Given the description of an element on the screen output the (x, y) to click on. 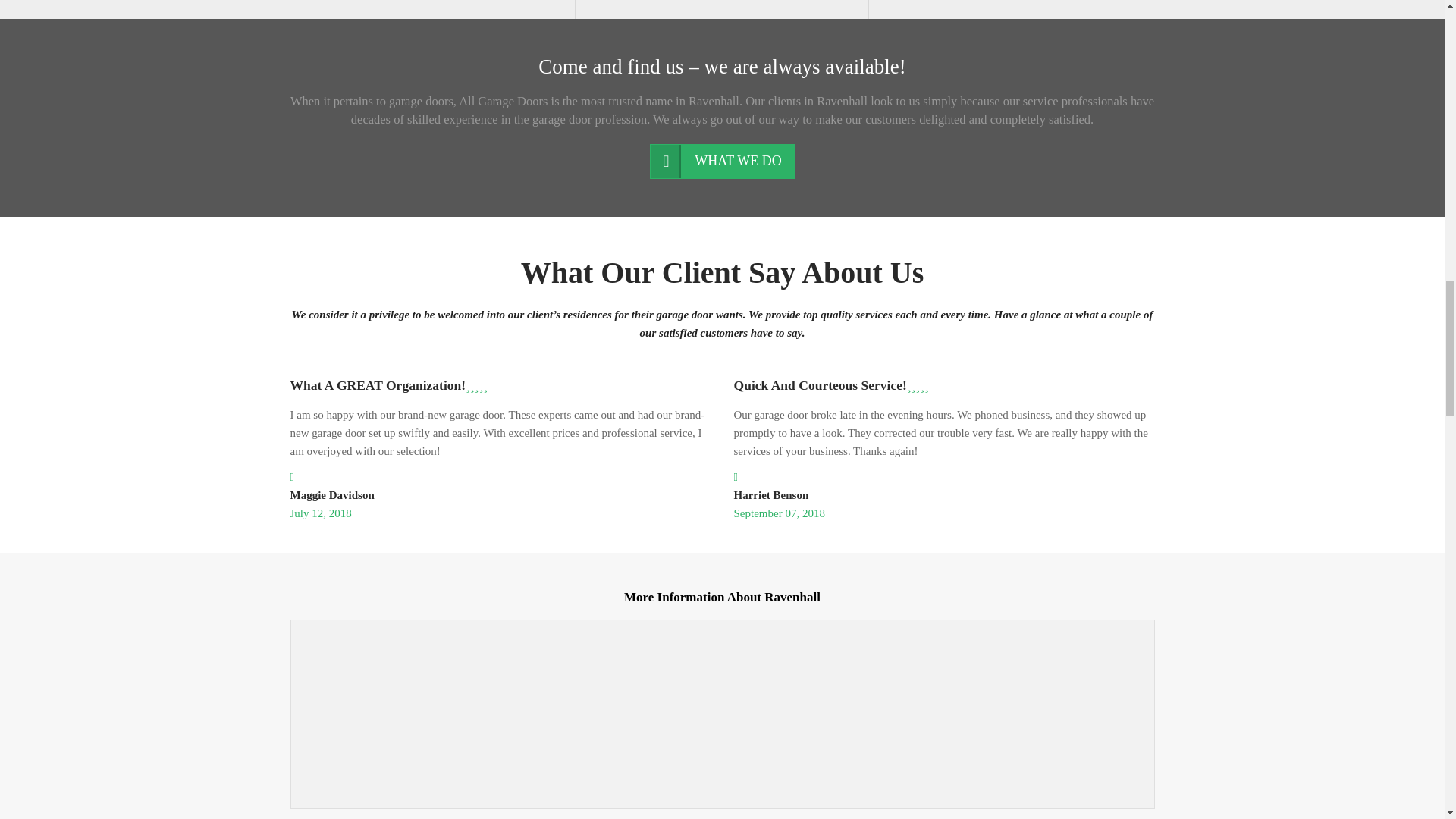
WHAT WE DO (721, 161)
